Given the description of an element on the screen output the (x, y) to click on. 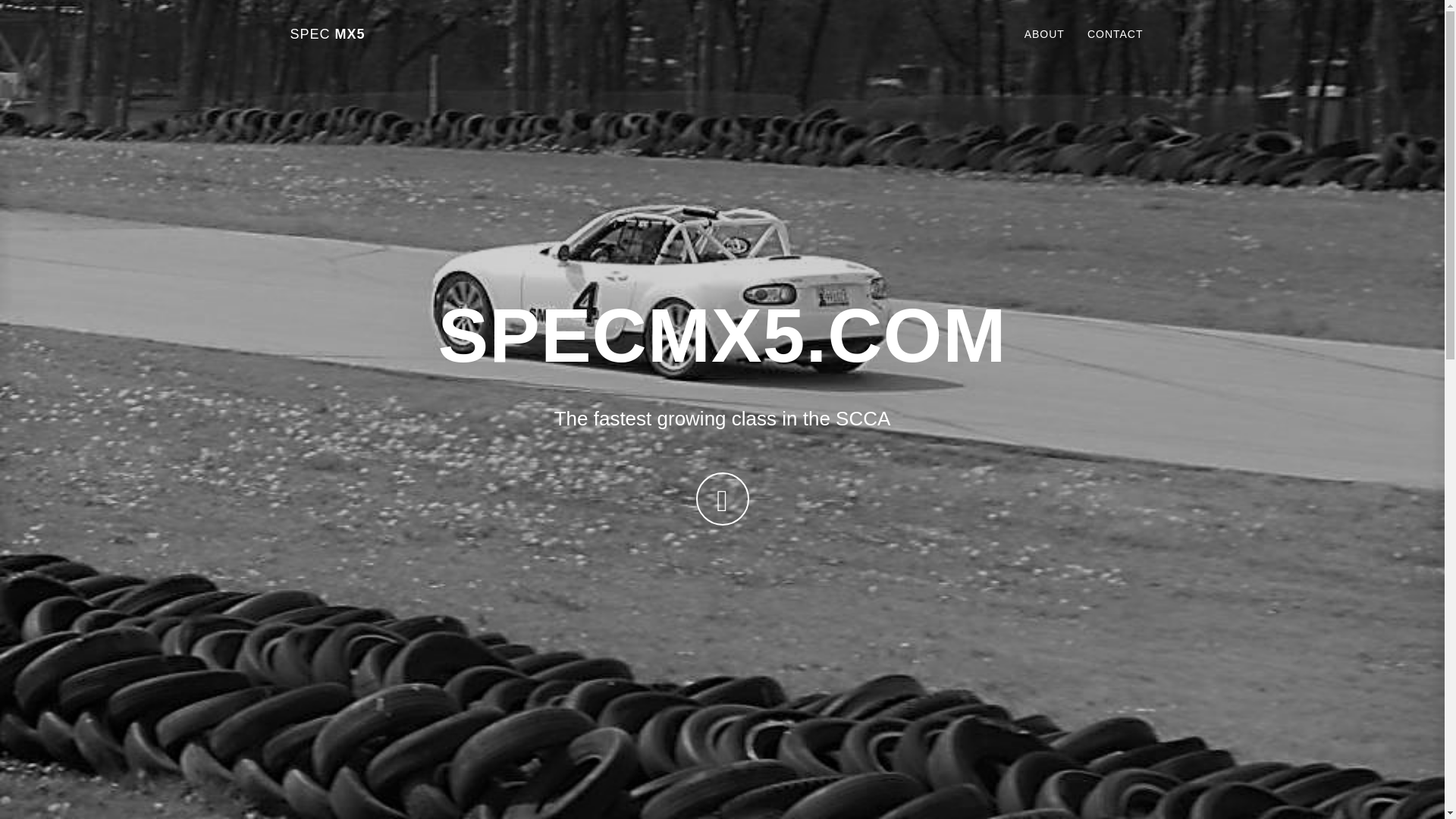
SPEC MX5 (328, 34)
CONTACT (1114, 34)
SPEC MX5 (328, 34)
ABOUT (1044, 34)
CONTACT (1114, 34)
ABOUT (1044, 34)
